Given the description of an element on the screen output the (x, y) to click on. 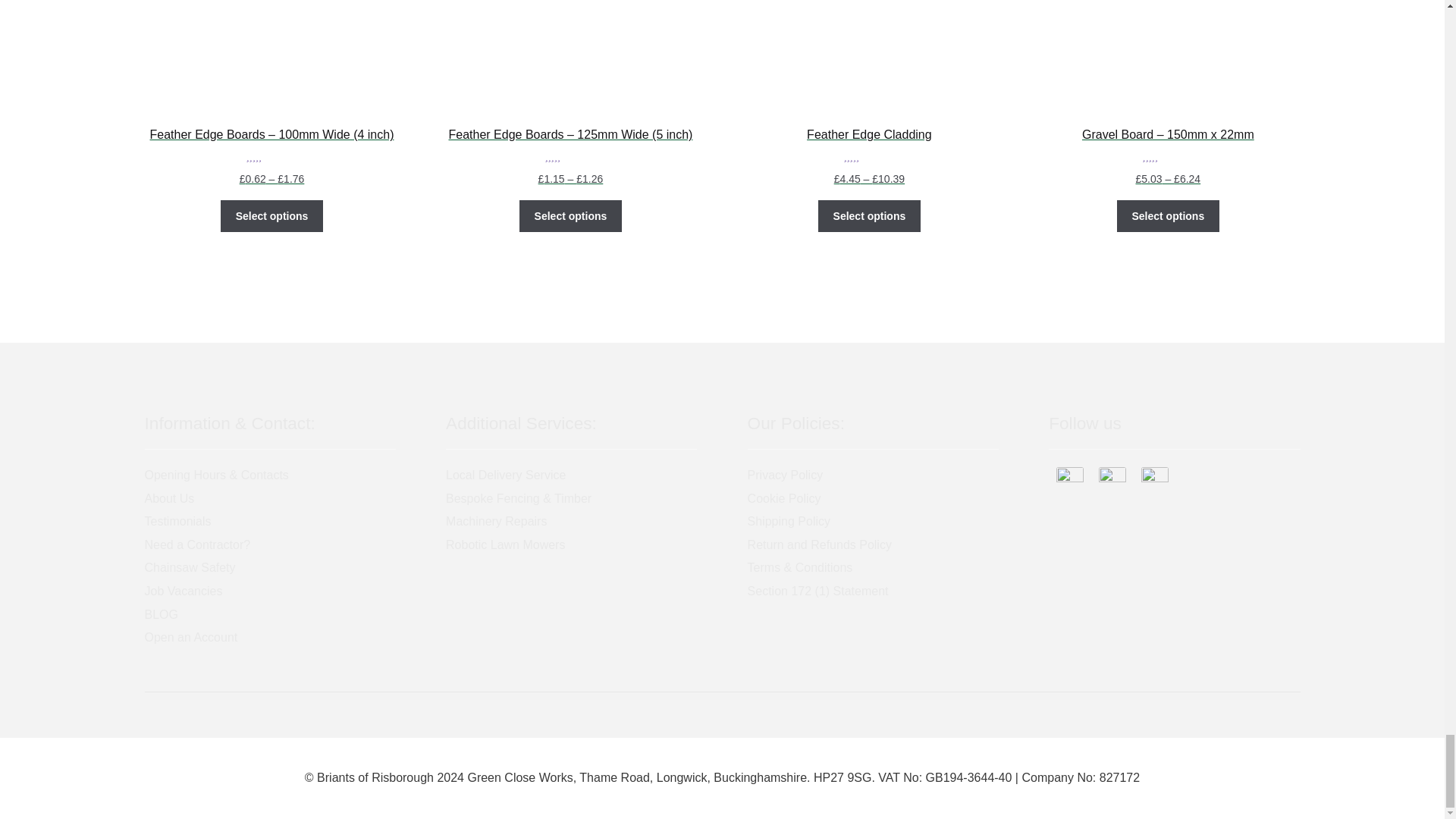
Instagram (1112, 480)
YouTube (1155, 480)
Facebook (1070, 480)
